Given the description of an element on the screen output the (x, y) to click on. 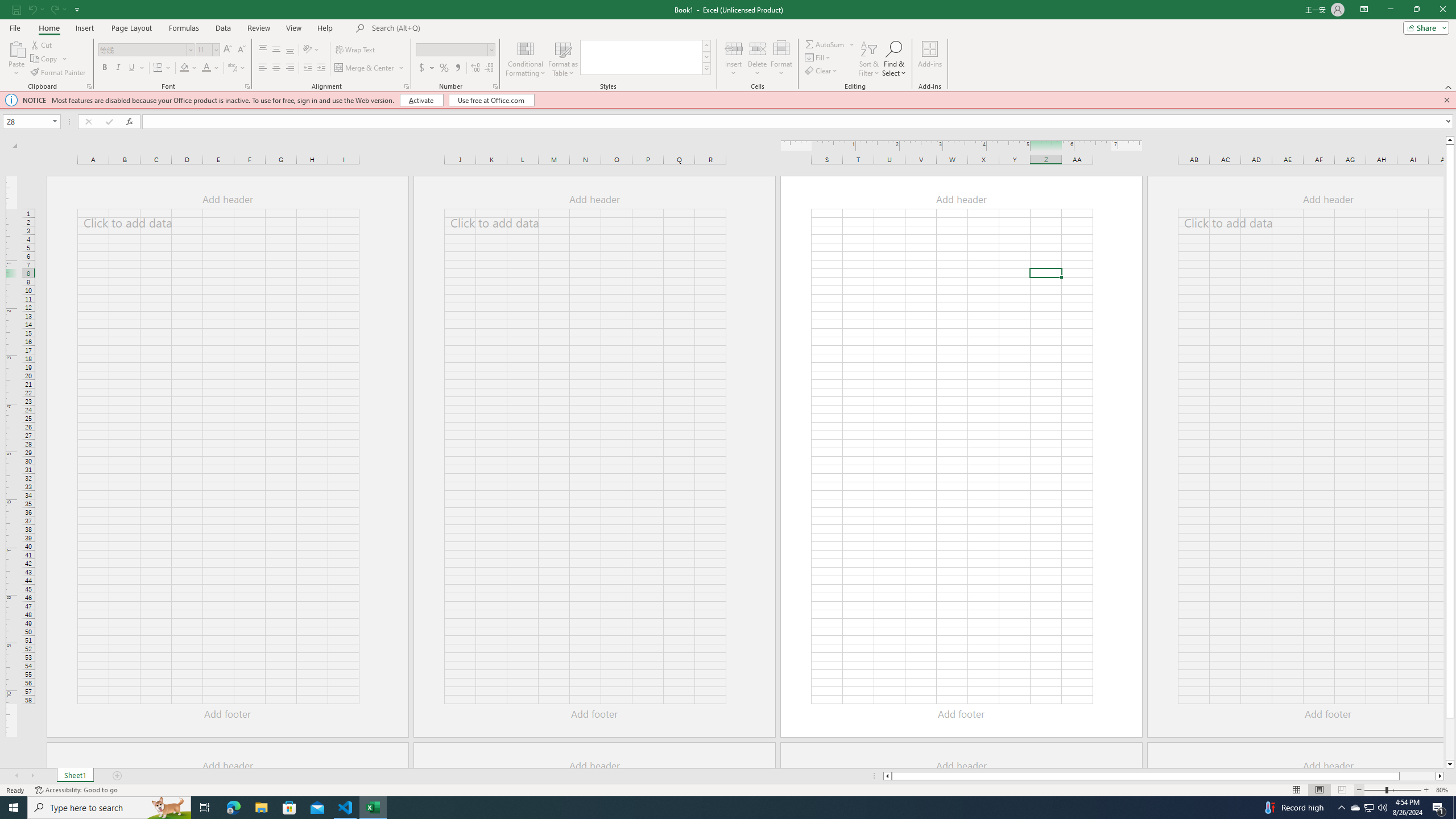
Fill (818, 56)
